Given the description of an element on the screen output the (x, y) to click on. 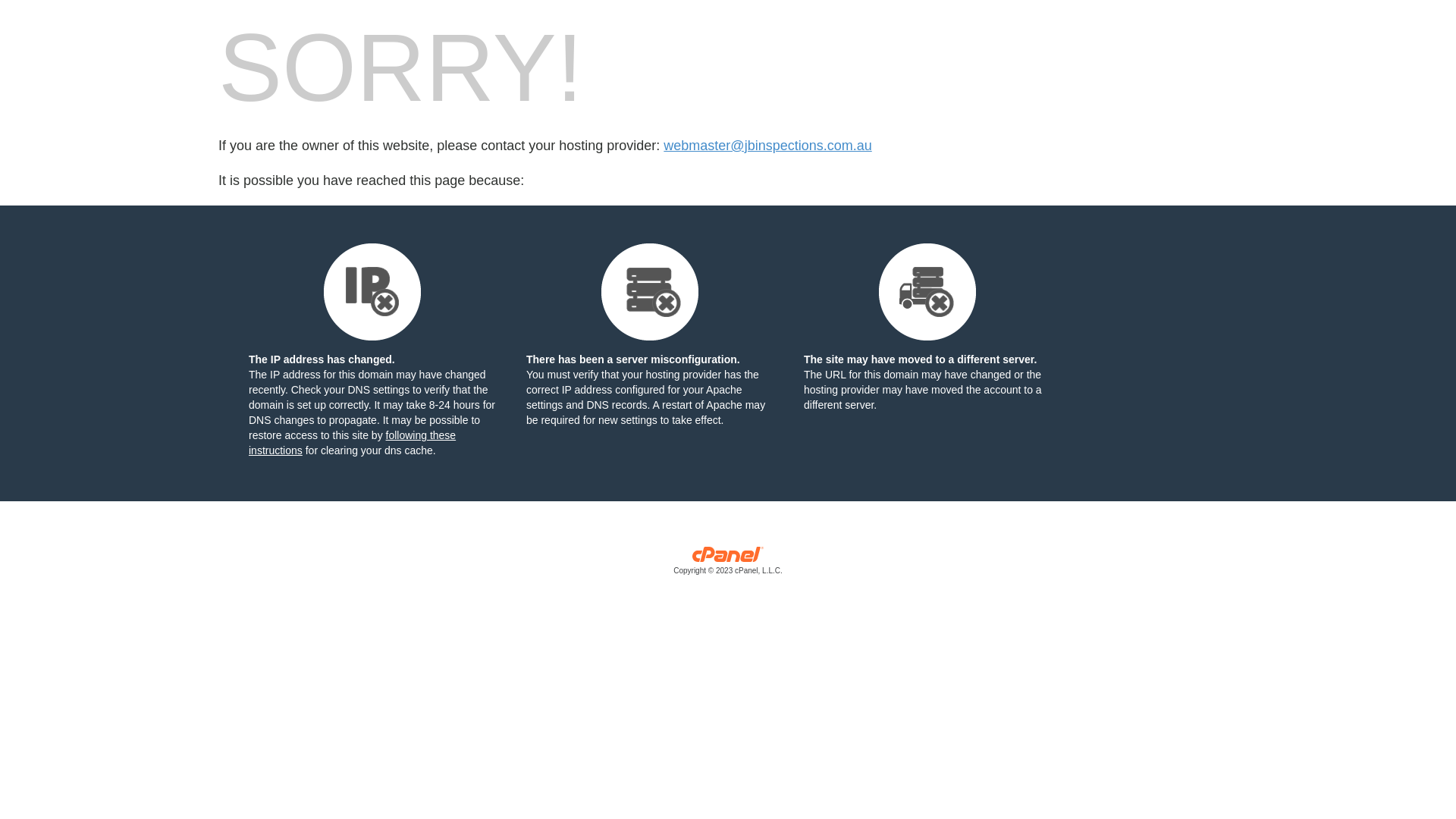
following these instructions Element type: text (351, 442)
webmaster@jbinspections.com.au Element type: text (767, 145)
